Given the description of an element on the screen output the (x, y) to click on. 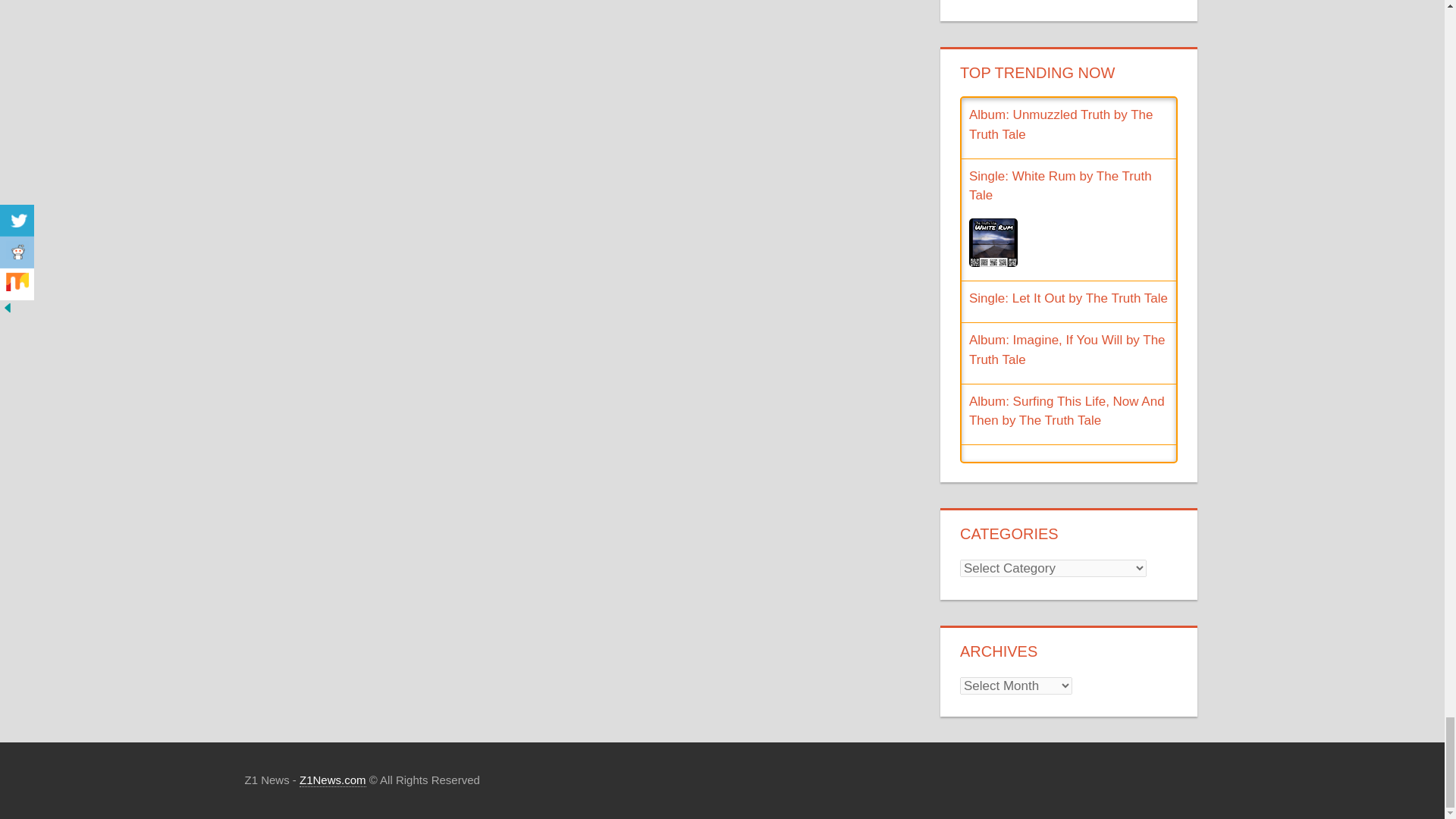
Album: Unmuzzled Truth by The Truth Tale (1061, 124)
Single: Let It Out by The Truth Tale (1068, 298)
Album: Imagine, If You Will by The Truth Tale (1067, 349)
Album: Surfing This Life, Now And Then by The Truth Tale (1066, 410)
Single: White Rum by The Truth Tale (1060, 185)
